Given the description of an element on the screen output the (x, y) to click on. 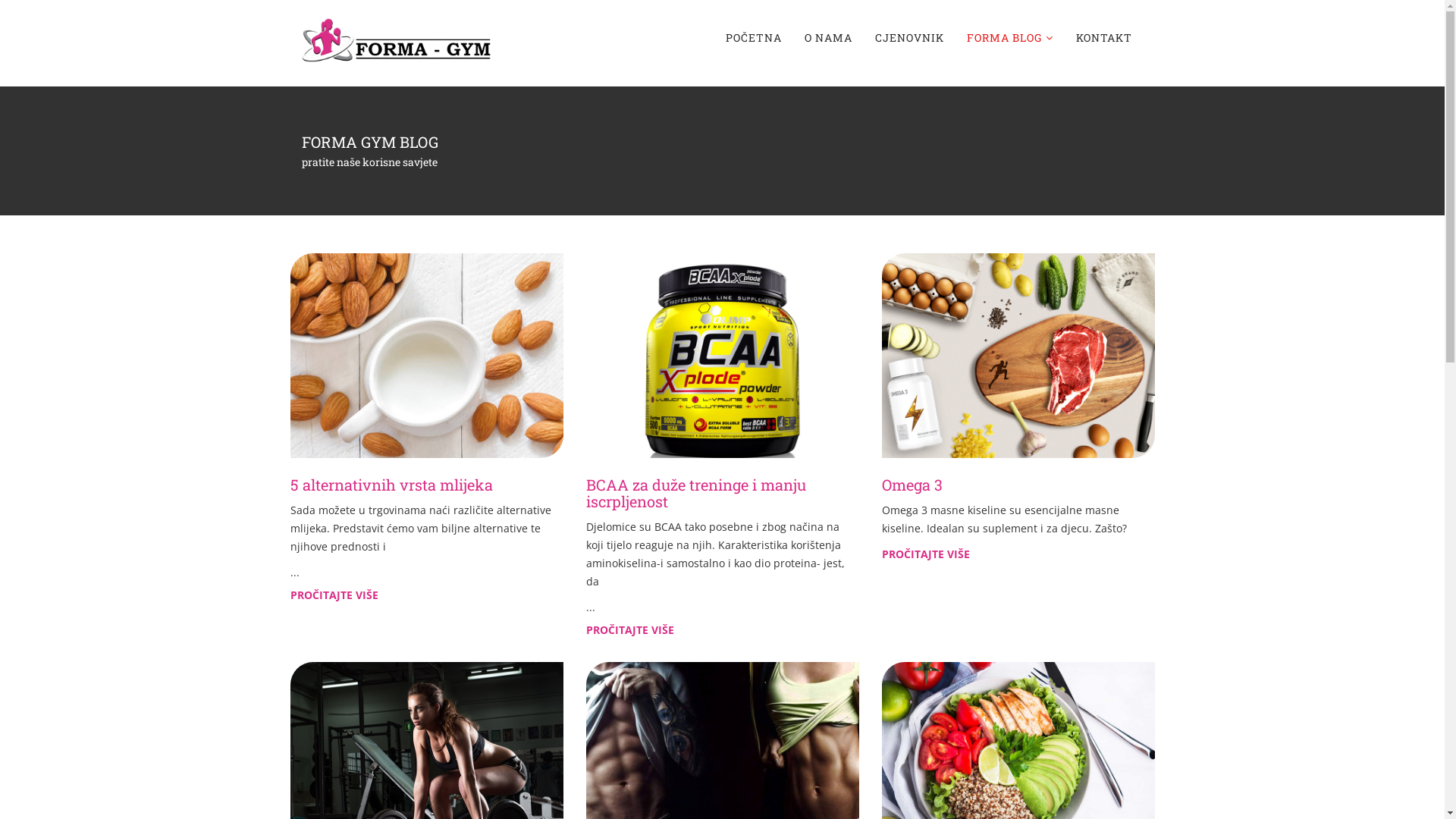
Omega 3 Element type: text (911, 484)
KONTAKT Element type: text (1103, 37)
5 alternativnih vrsta mlijeka Element type: text (390, 484)
FORMA BLOG Element type: text (1009, 37)
CJENOVNIK Element type: text (908, 37)
O NAMA Element type: text (828, 37)
